Given the description of an element on the screen output the (x, y) to click on. 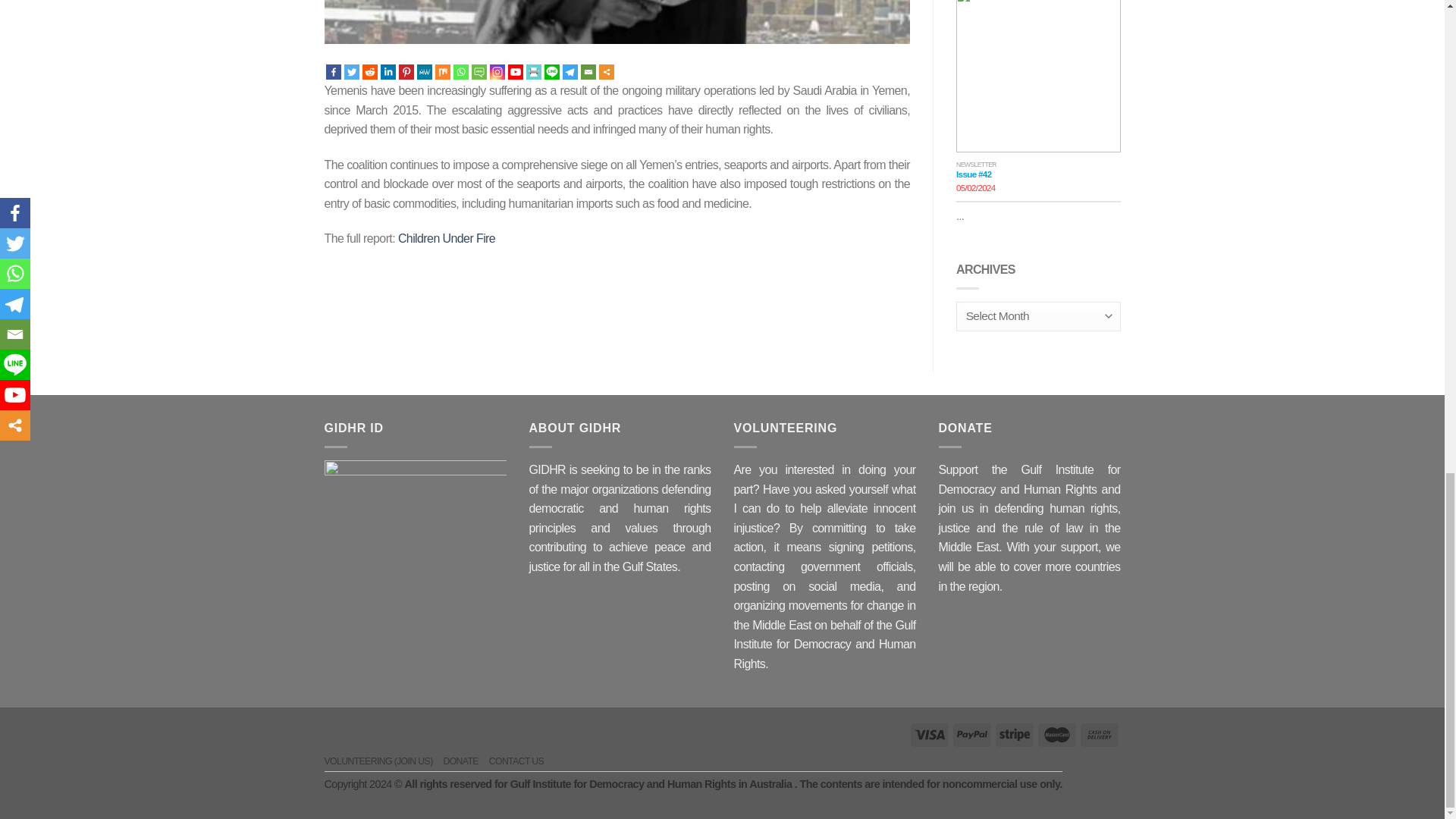
Facebook (333, 71)
Reddit (369, 71)
Twitter (351, 71)
Linkedin (388, 71)
